Given the description of an element on the screen output the (x, y) to click on. 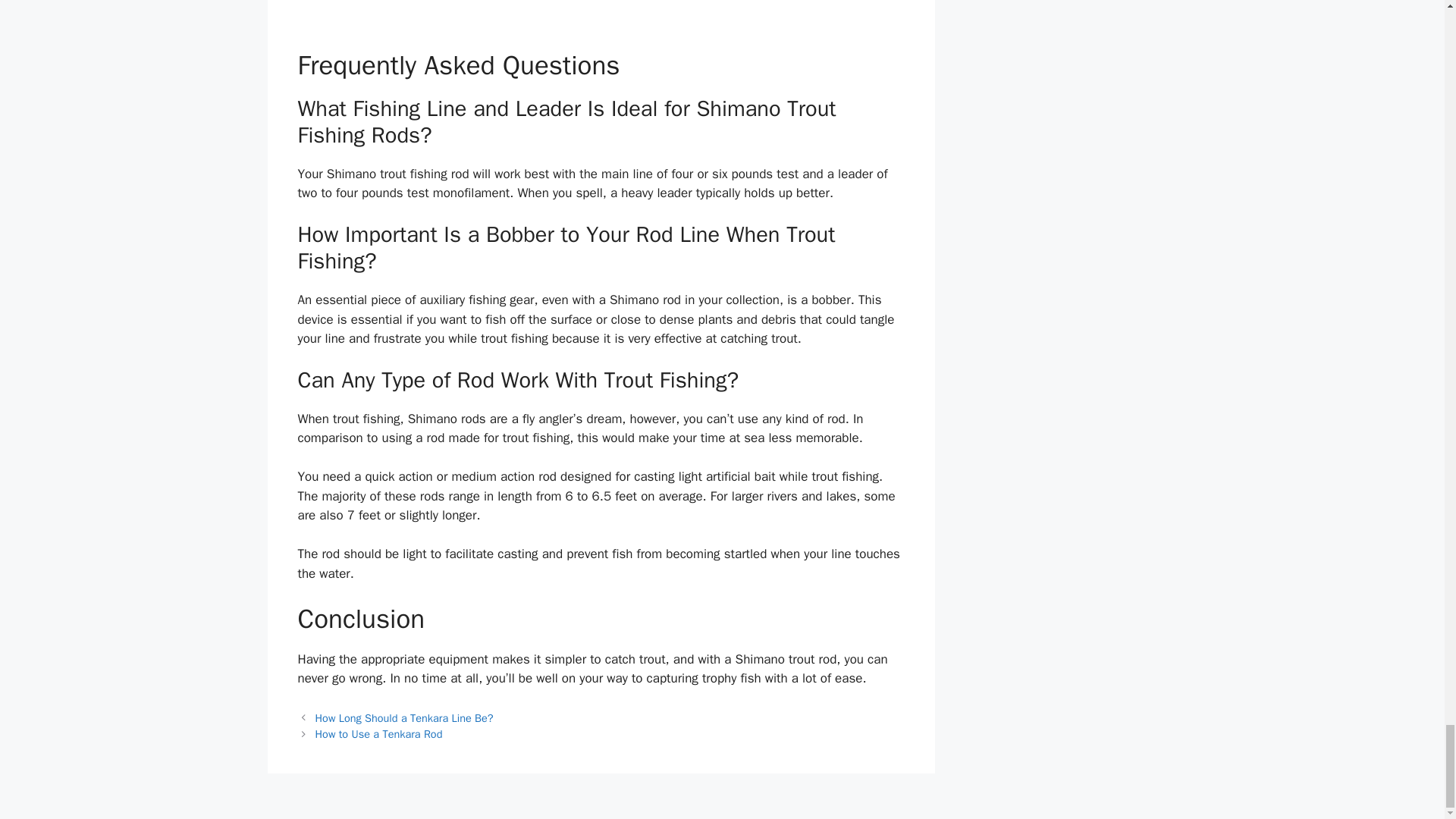
Previous (404, 717)
Next (378, 734)
How to Use a Tenkara Rod (378, 734)
How Long Should a Tenkara Line Be? (404, 717)
